Given the description of an element on the screen output the (x, y) to click on. 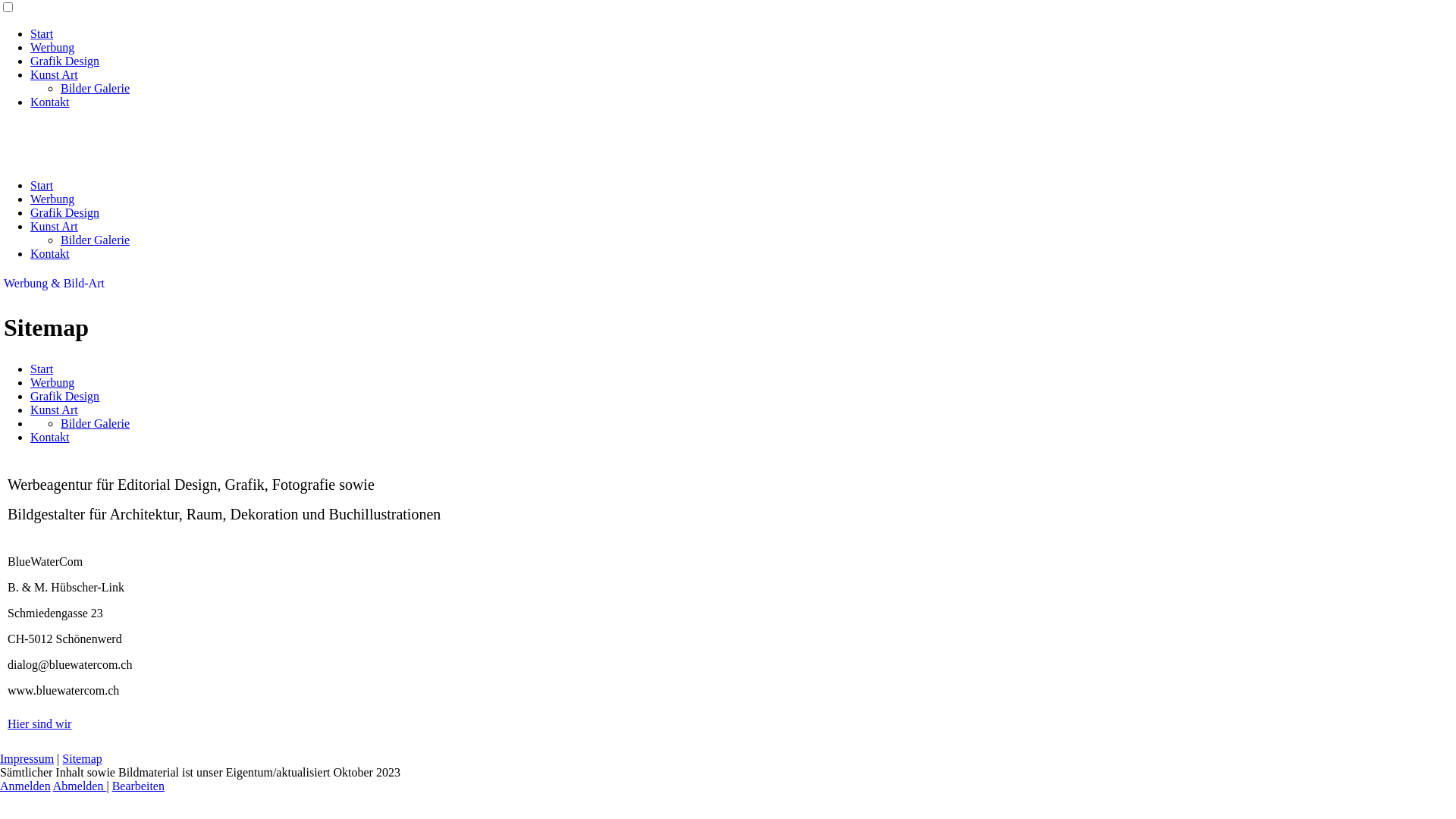
Kunst Art Element type: text (54, 225)
Werbung Element type: text (52, 46)
Bearbeiten Element type: text (138, 785)
Start Element type: text (41, 33)
Bilder Galerie Element type: text (94, 423)
Werbung Element type: text (52, 198)
Sitemap Element type: text (81, 758)
Bilder Galerie Element type: text (94, 239)
Hier sind wir Element type: text (39, 723)
Kontakt Element type: text (49, 101)
Kontakt Element type: text (49, 253)
Anmelden Element type: text (25, 785)
Werbung & Bild-Art Element type: text (53, 282)
Impressum Element type: text (26, 758)
Start Element type: text (41, 184)
Kunst Art Element type: text (54, 409)
Abmelden Element type: text (79, 785)
Grafik Design Element type: text (64, 60)
Bilder Galerie Element type: text (94, 87)
Grafik Design Element type: text (64, 395)
Kunst Art Element type: text (54, 74)
Grafik Design Element type: text (64, 212)
Werbung Element type: text (52, 382)
Start Element type: text (41, 368)
Kontakt Element type: text (49, 436)
